Given the description of an element on the screen output the (x, y) to click on. 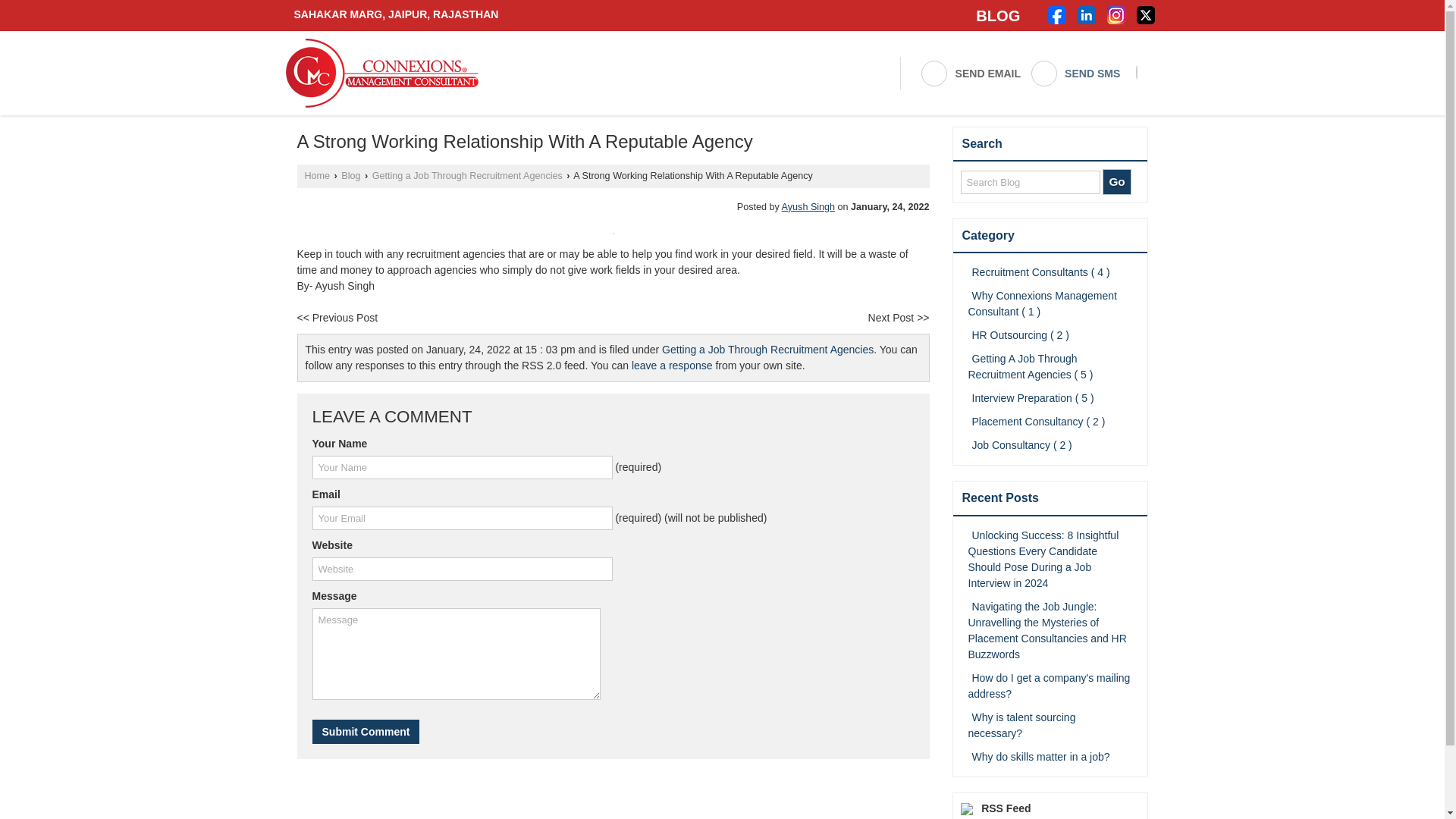
SEND EMAIL (970, 72)
BLOG (999, 15)
Go (1116, 181)
Submit Comment (366, 731)
Linked IN (1086, 13)
Instagram (1115, 13)
Twitter (1144, 13)
SEND SMS (1075, 72)
Facebook (1056, 13)
Connexions Management Consultants (381, 72)
